Given the description of an element on the screen output the (x, y) to click on. 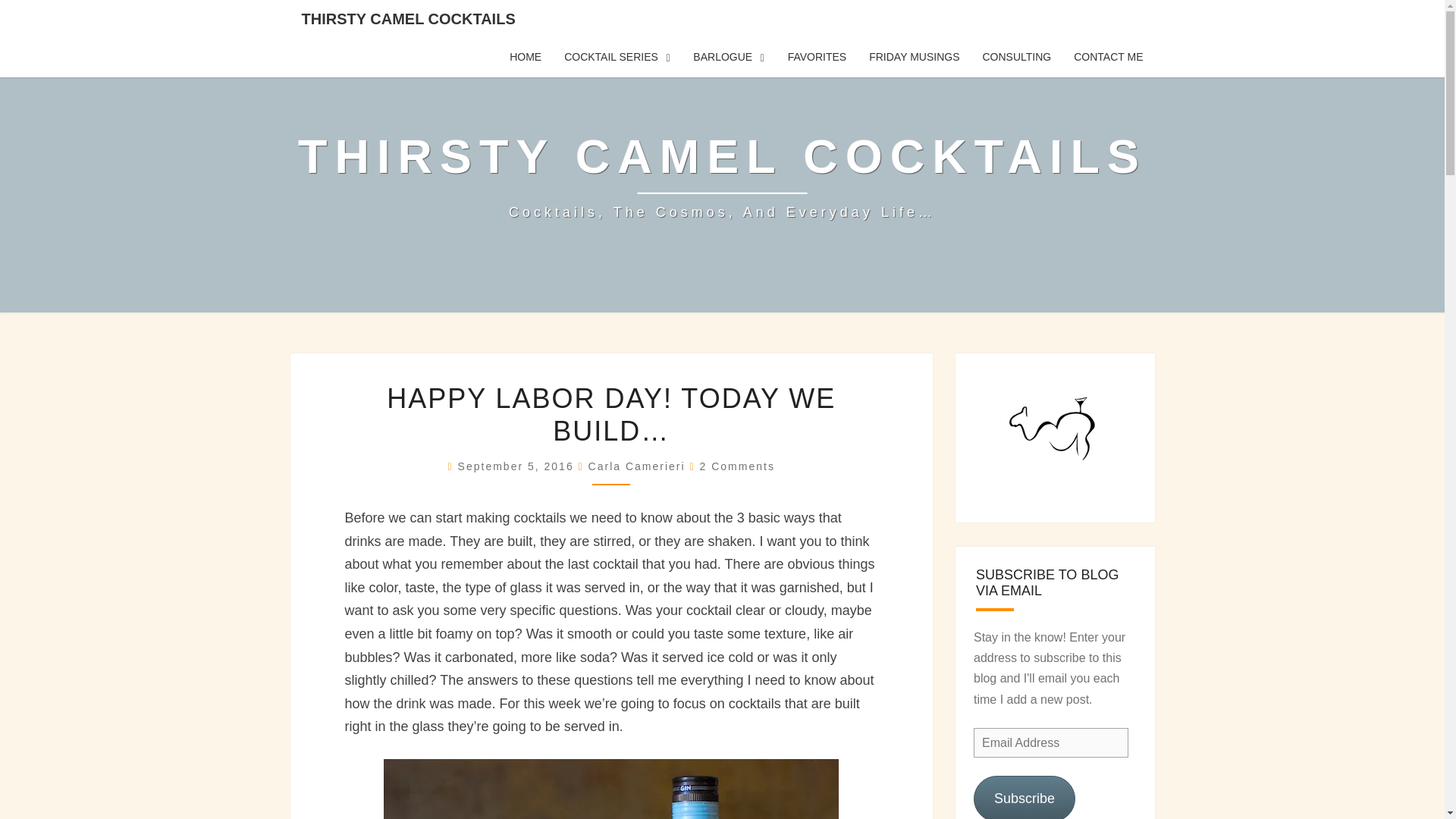
Carla Camerieri (636, 466)
Thirsty Camel Cocktails (722, 175)
6:30 am (518, 466)
CONTACT ME (1108, 56)
FRIDAY MUSINGS (914, 56)
THIRSTY CAMEL COCKTAILS (407, 18)
HOME (525, 56)
CONSULTING (1016, 56)
FAVORITES (817, 56)
COCKTAIL SERIES (617, 56)
BARLOGUE (728, 56)
2 Comments (737, 466)
View all posts by Carla Camerieri (636, 466)
September 5, 2016 (518, 466)
